Given the description of an element on the screen output the (x, y) to click on. 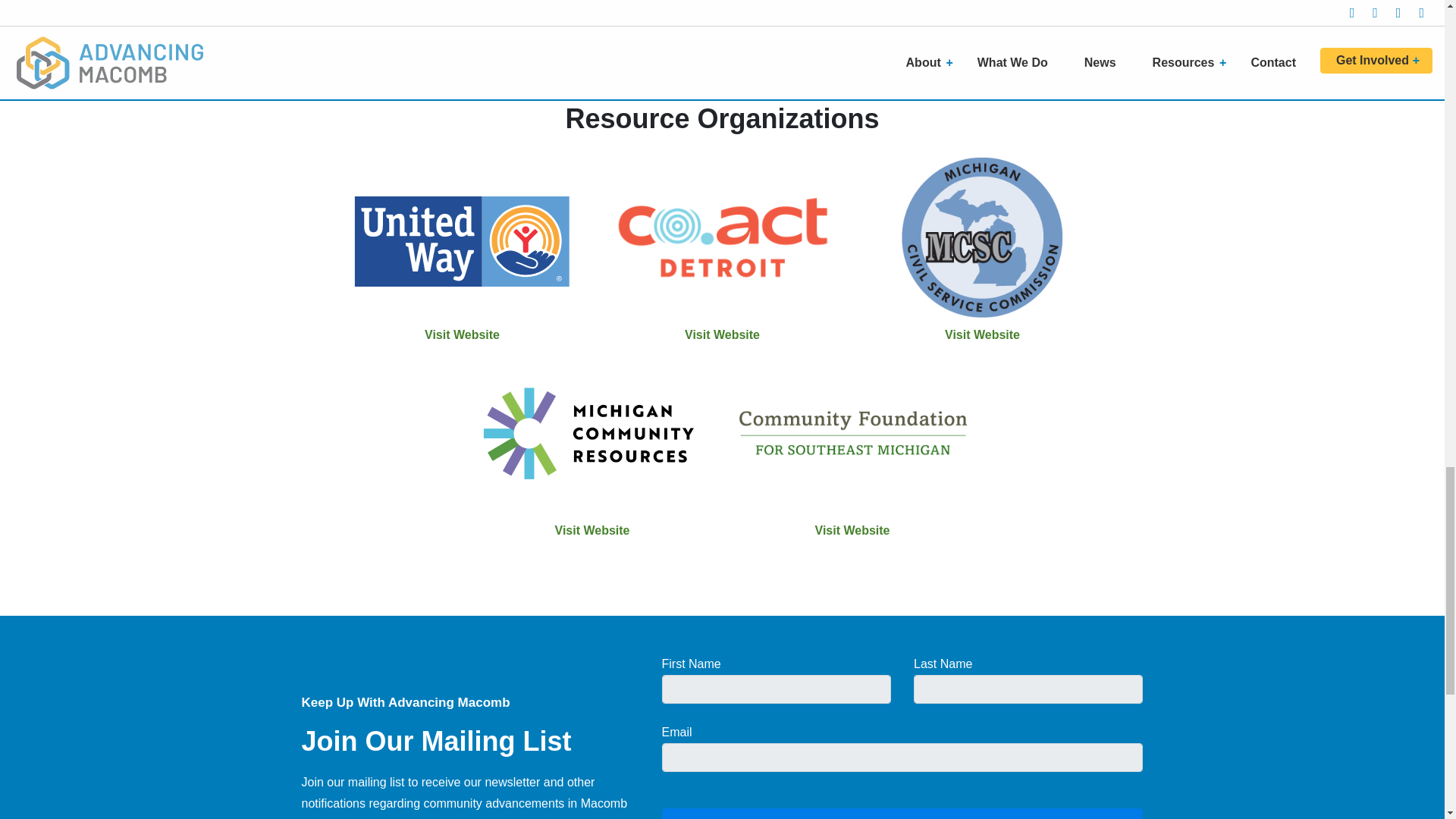
Join Now (901, 813)
